Given the description of an element on the screen output the (x, y) to click on. 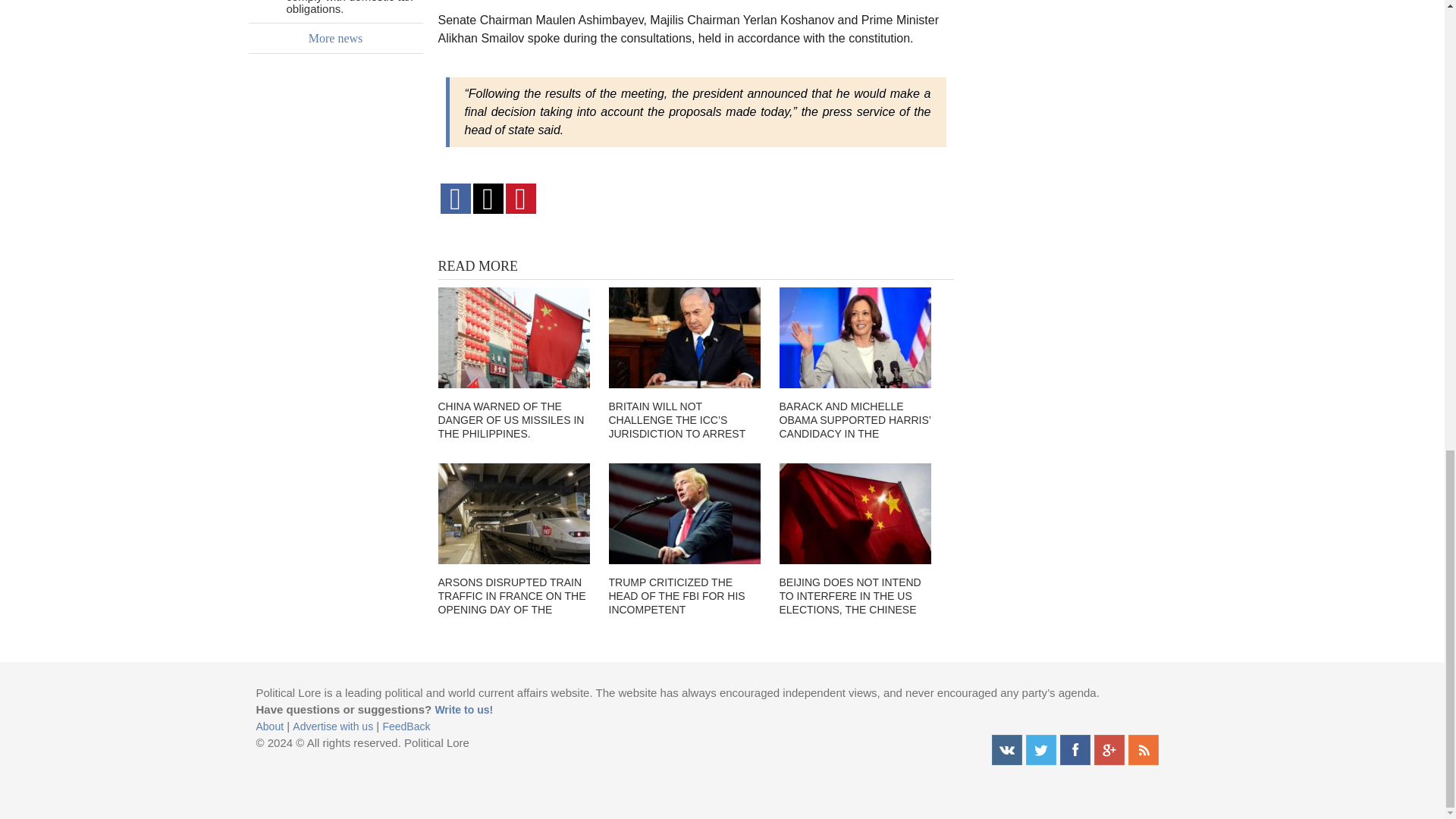
Twitter (1040, 749)
More news (335, 38)
Facebook (1074, 749)
